Given the description of an element on the screen output the (x, y) to click on. 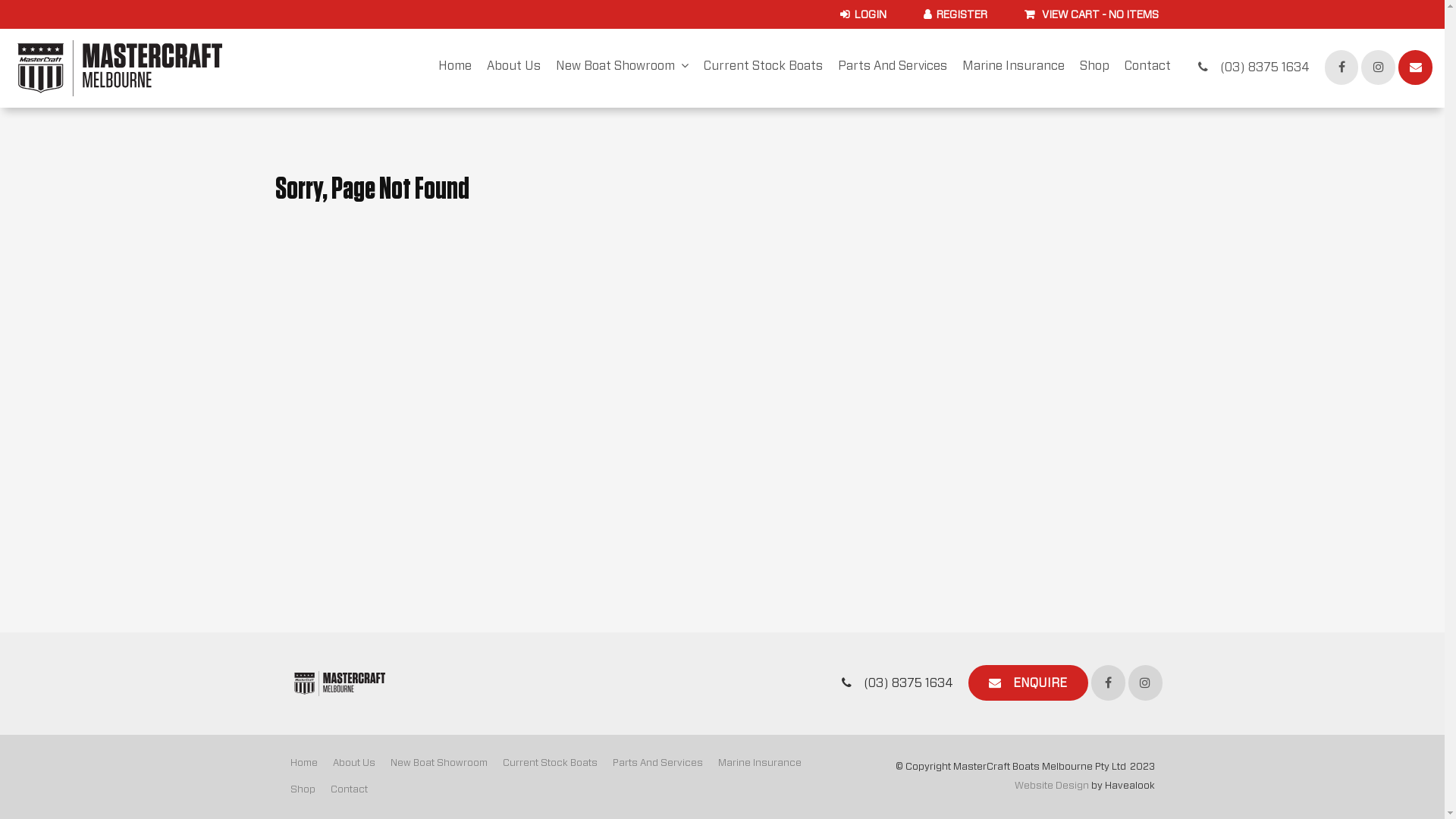
New Boat Showroom Element type: text (438, 763)
Contact Element type: text (1147, 67)
New Boat Showroom Element type: text (622, 67)
Parts And Services Element type: text (657, 763)
Shop Element type: text (302, 789)
Home Element type: text (454, 67)
Parts And Services Element type: text (892, 67)
About Us Element type: text (353, 763)
Current Stock Boats Element type: text (763, 67)
Website Design Element type: text (1051, 785)
Contact Element type: text (349, 789)
About Us Element type: text (513, 67)
ENQUIRE Element type: text (1028, 682)
Marine Insurance Element type: text (1013, 67)
Current Stock Boats Element type: text (549, 763)
VIEW CART - NO ITEMS Element type: text (1091, 14)
Home Element type: text (303, 763)
Marine Insurance Element type: text (758, 763)
Shop Element type: text (1094, 67)
